Given the description of an element on the screen output the (x, y) to click on. 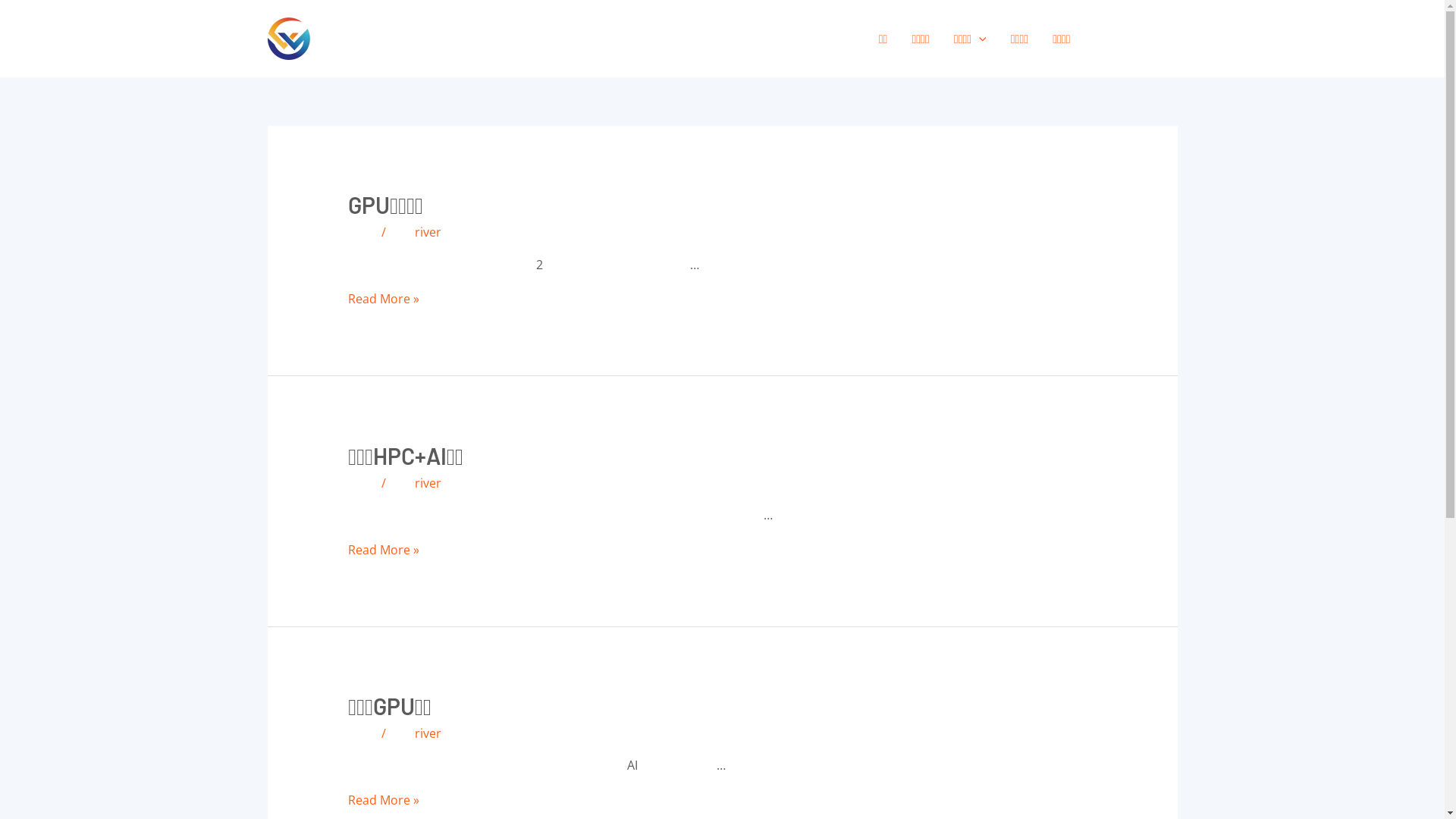
river Element type: text (427, 482)
river Element type: text (427, 231)
river Element type: text (427, 732)
